Given the description of an element on the screen output the (x, y) to click on. 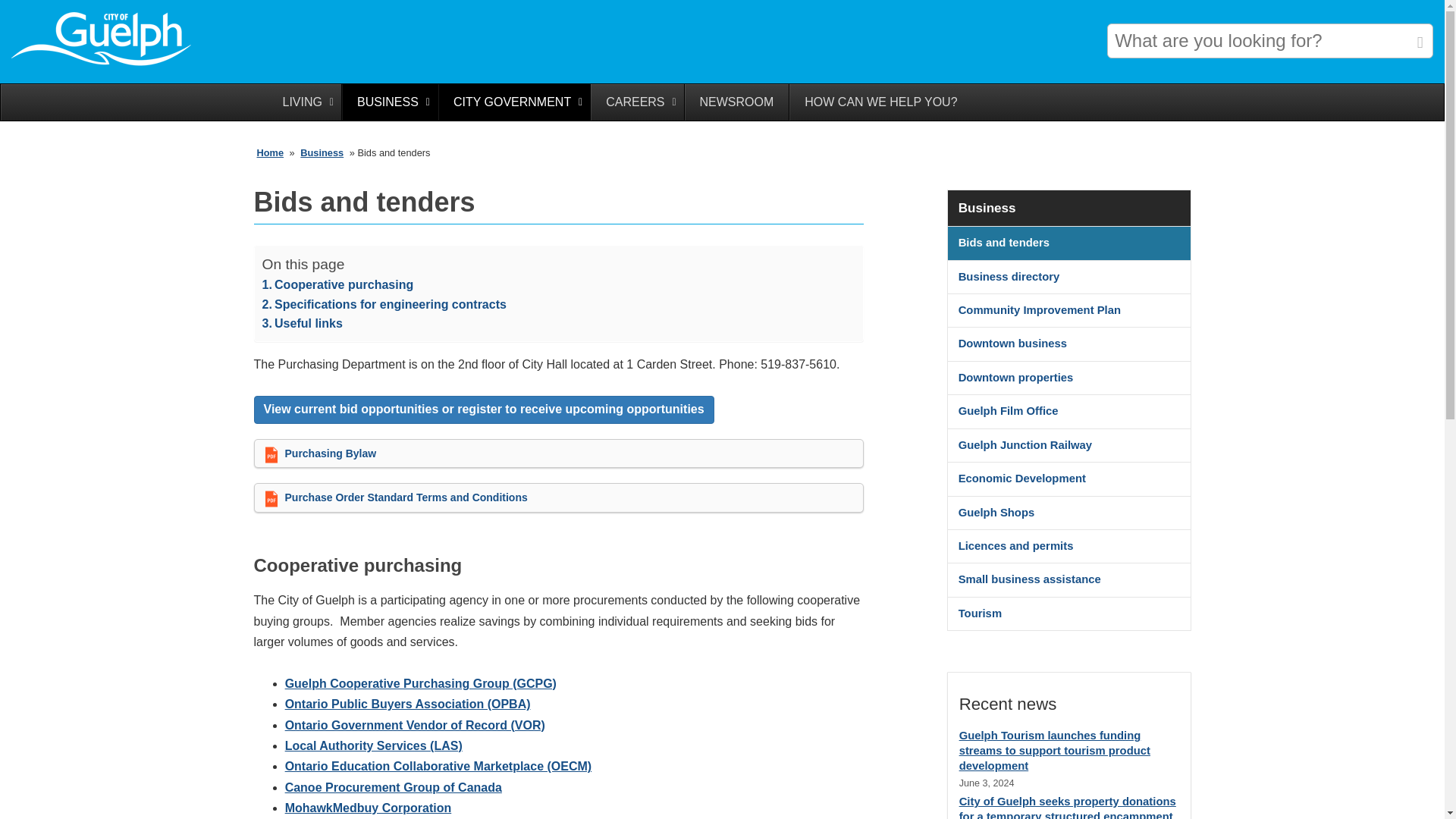
Useful links (302, 323)
Specifications for engineering contracts (384, 304)
LIVING (303, 102)
Cooperative purchasing (337, 284)
City of Guelph (105, 64)
